Given the description of an element on the screen output the (x, y) to click on. 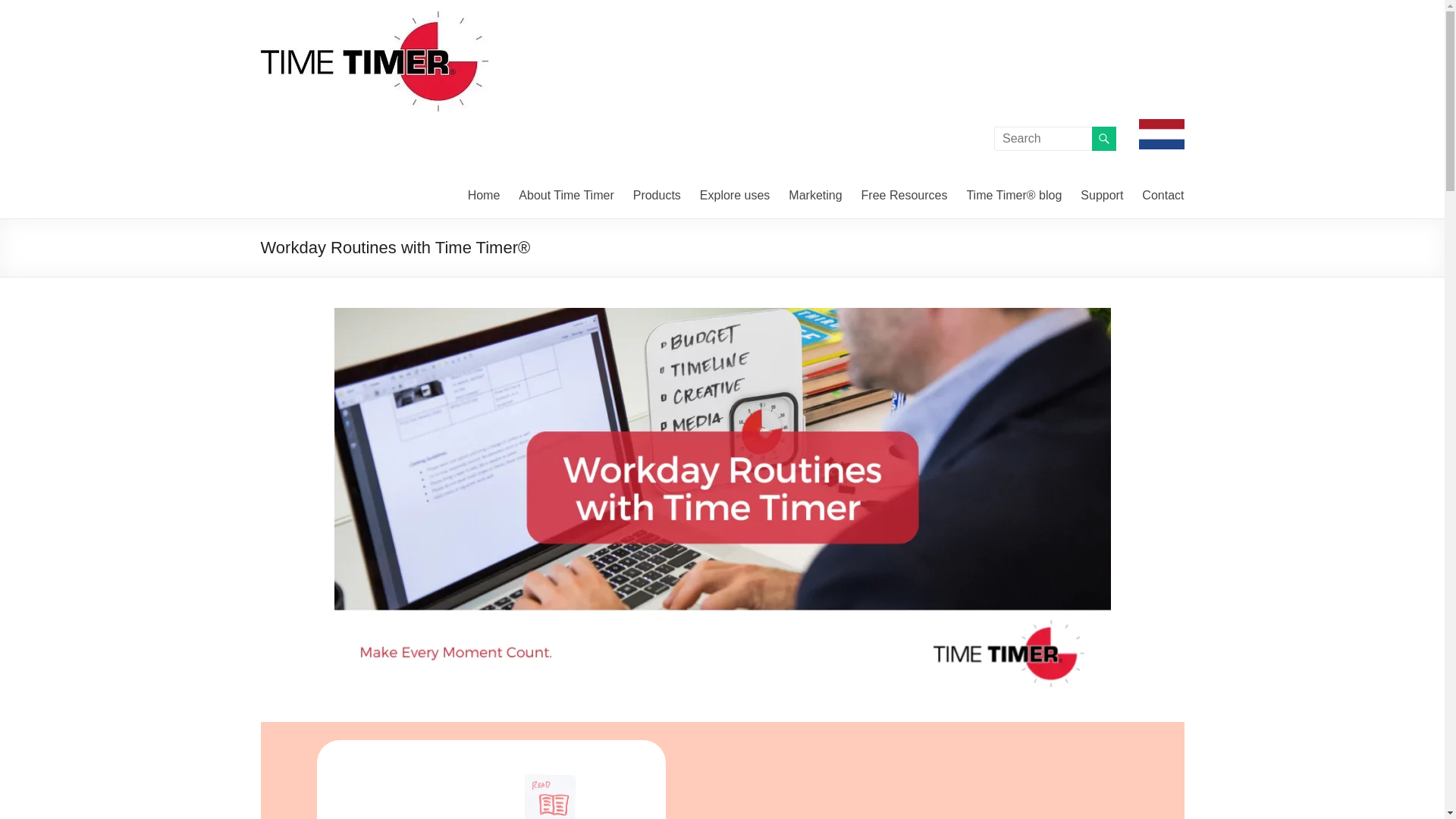
Explore uses (735, 195)
Home (483, 195)
Marketing (815, 195)
Free Resources (904, 195)
Support (1101, 195)
Products (657, 195)
About Time Timer (565, 195)
TimeTimer (323, 30)
TimeTimer (323, 30)
Contact (1162, 195)
